Given the description of an element on the screen output the (x, y) to click on. 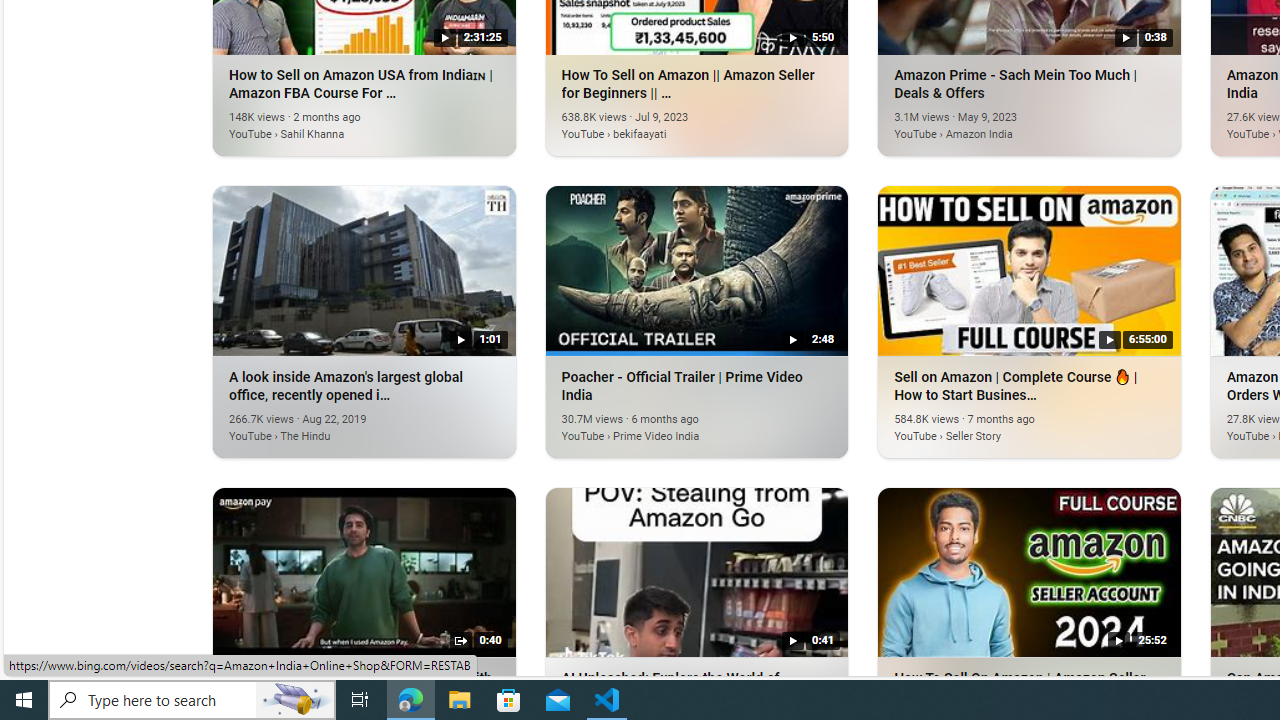
Amazon India - Struggling to keep up with bill payment on... (363, 571)
Poacher - Official Trailer | Prime Video India (667, 424)
AI Unleashed: Explore the World of Amazon India's Go Stores (696, 571)
